Given the description of an element on the screen output the (x, y) to click on. 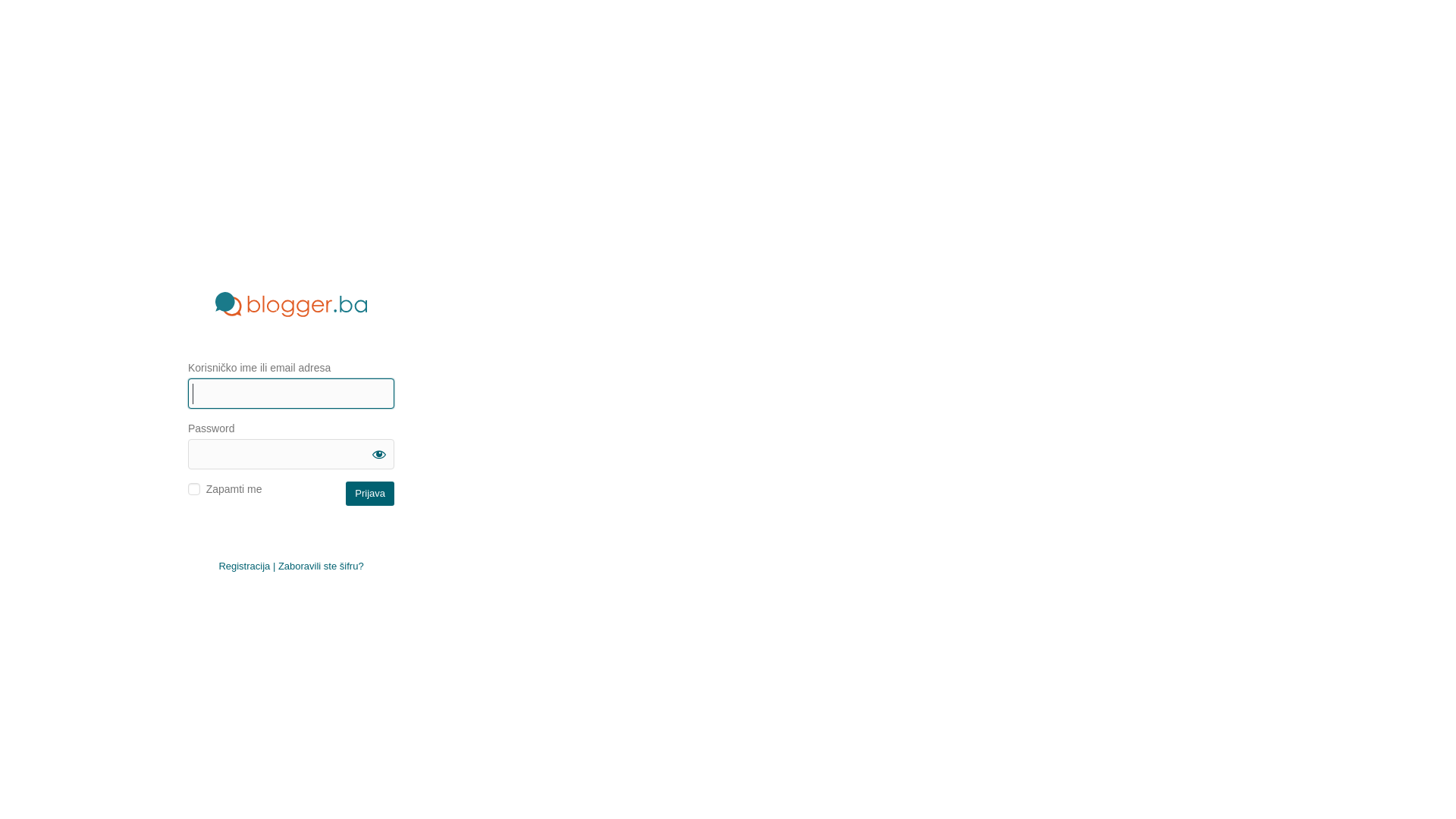
Registracija Element type: text (243, 565)
Prijava Element type: text (369, 493)
